Given the description of an element on the screen output the (x, y) to click on. 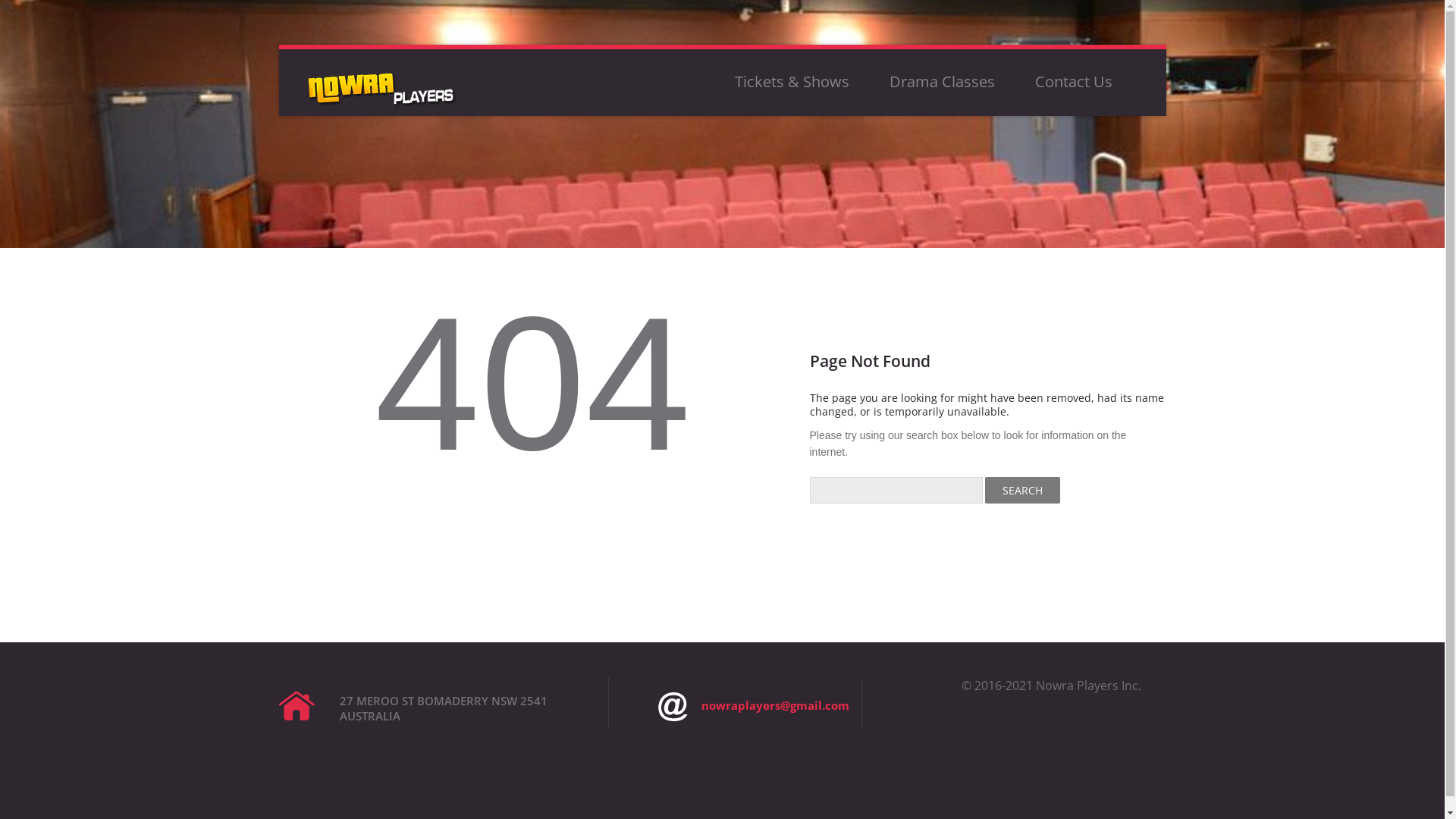
Contact Us Element type: text (1072, 81)
Drama Classes Element type: text (941, 81)
search Element type: text (1022, 489)
Tickets & Shows Element type: text (791, 81)
nowraplayers@gmail.com Element type: text (753, 706)
